Given the description of an element on the screen output the (x, y) to click on. 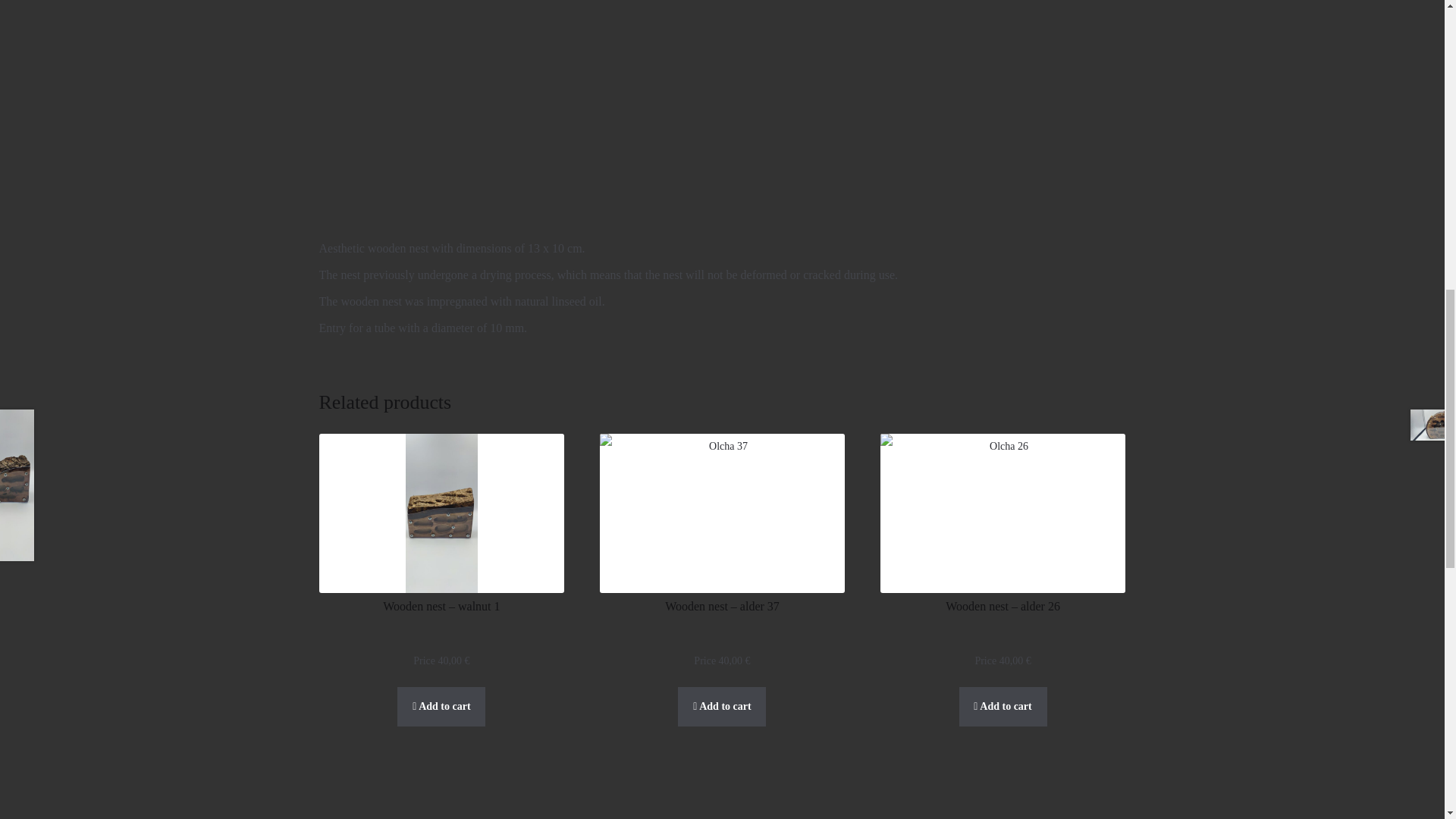
Add to cart (440, 706)
Add to cart (1002, 706)
Add to cart (721, 706)
